Given the description of an element on the screen output the (x, y) to click on. 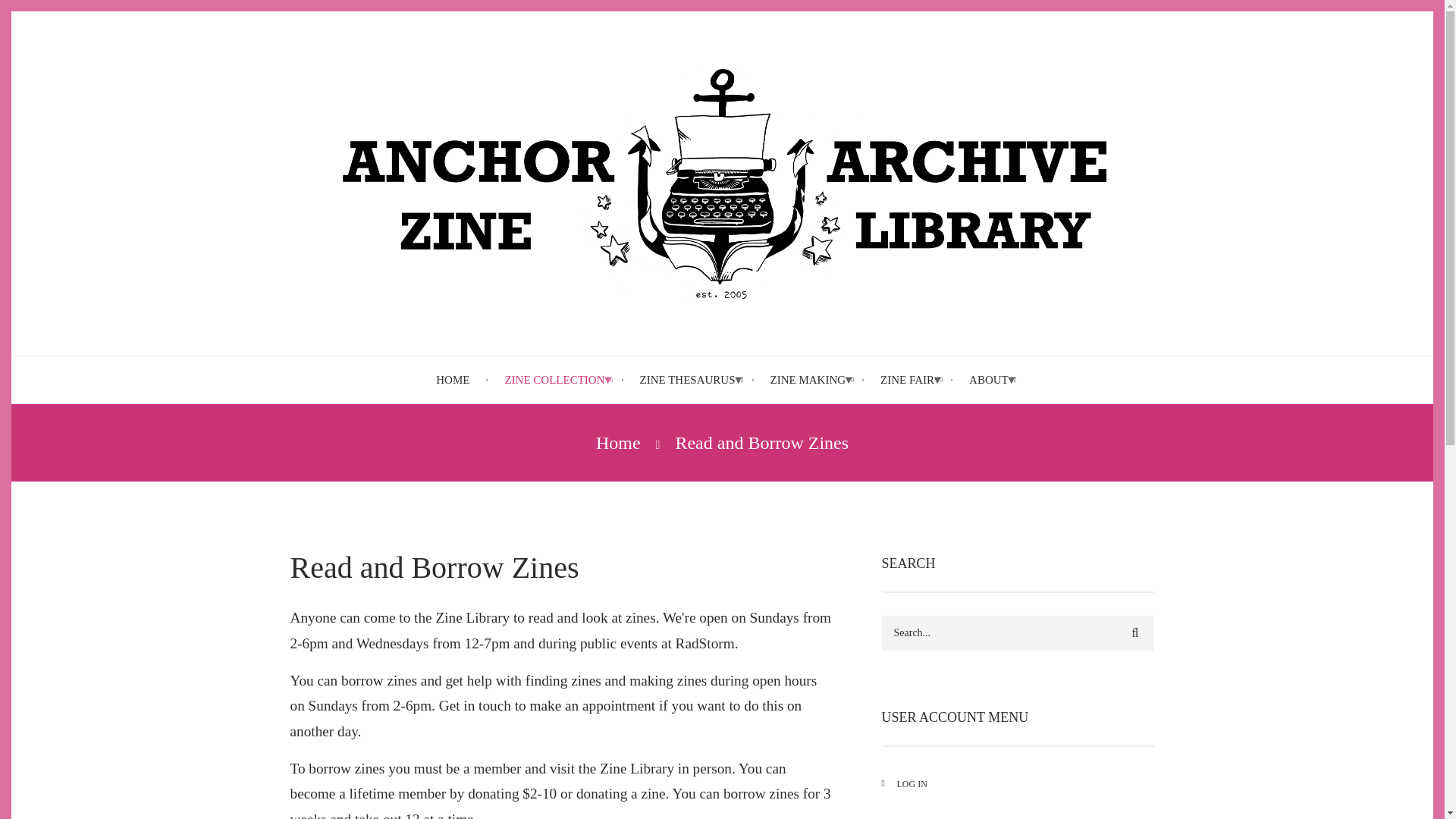
HOME (452, 380)
Enter the terms you wish to search for. (1017, 632)
Home (617, 442)
Home (721, 184)
LOG IN (1017, 783)
